Given the description of an element on the screen output the (x, y) to click on. 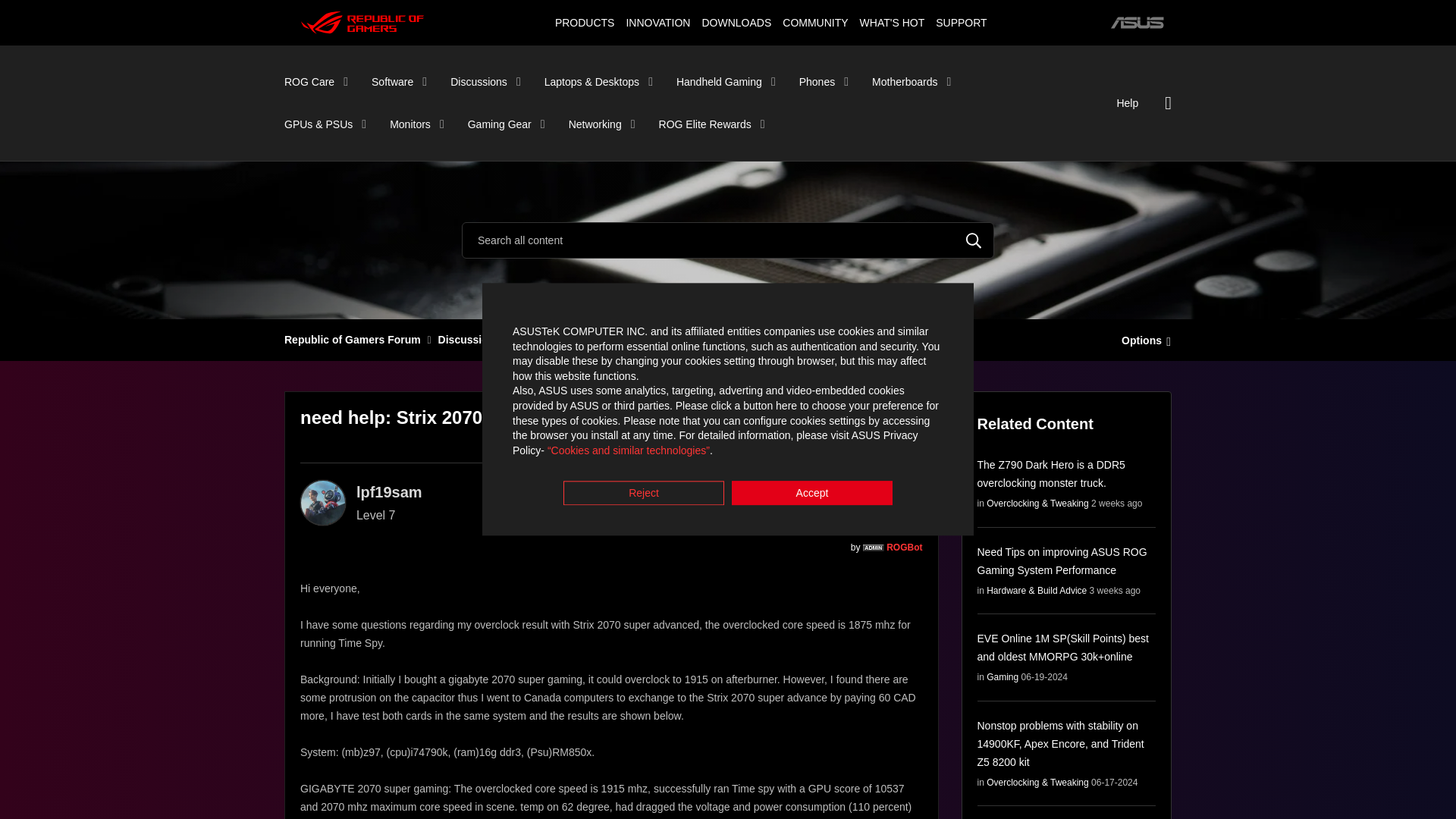
COMMUNITY (815, 22)
Search (973, 239)
INNOVATION (657, 22)
Search (973, 239)
PRODUCTS (584, 22)
Community Admin (873, 547)
DOWNLOADS (736, 22)
lpf19sam (322, 502)
Search (727, 239)
Show option menu (1142, 339)
